Given the description of an element on the screen output the (x, y) to click on. 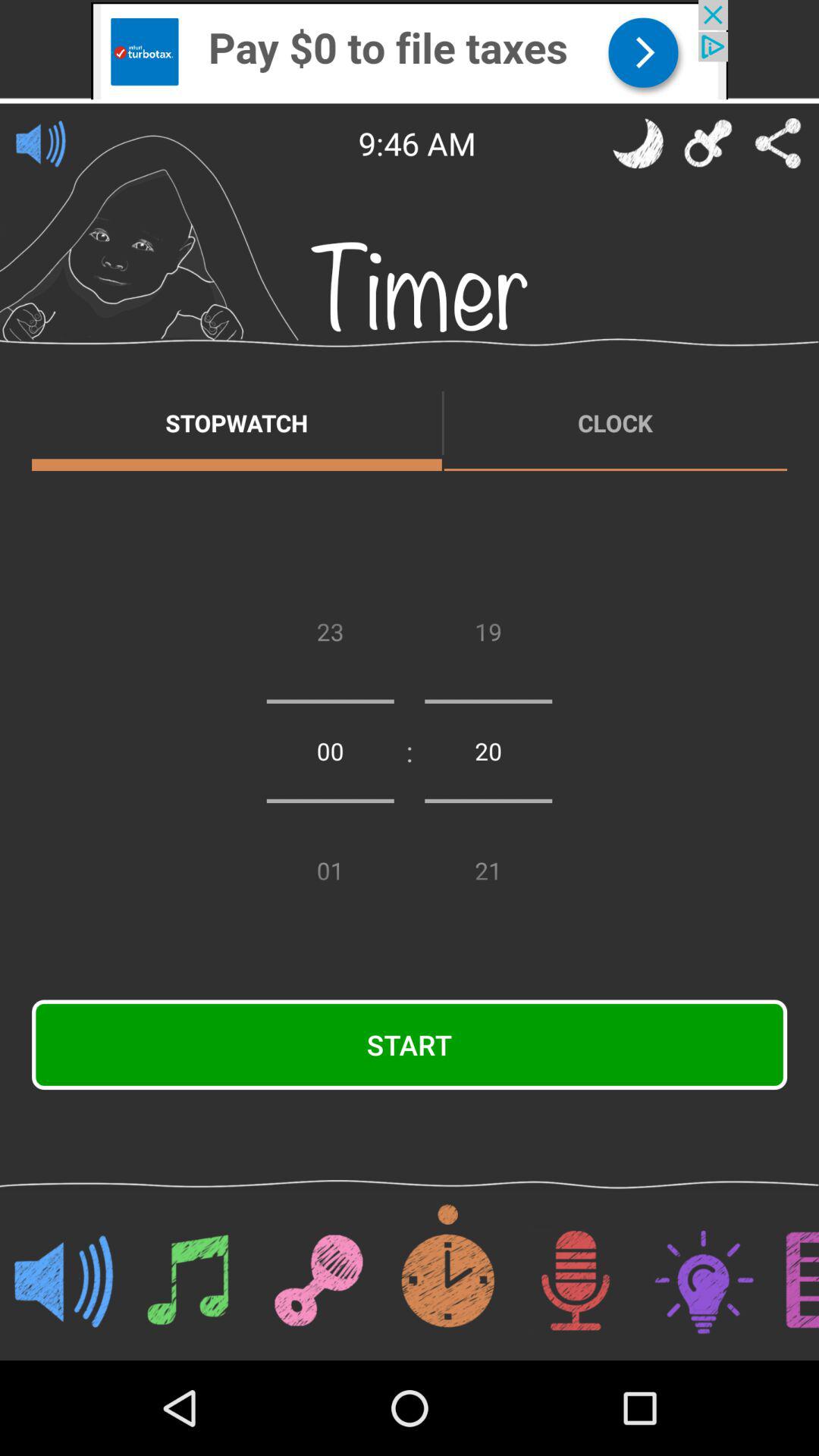
share (778, 143)
